Given the description of an element on the screen output the (x, y) to click on. 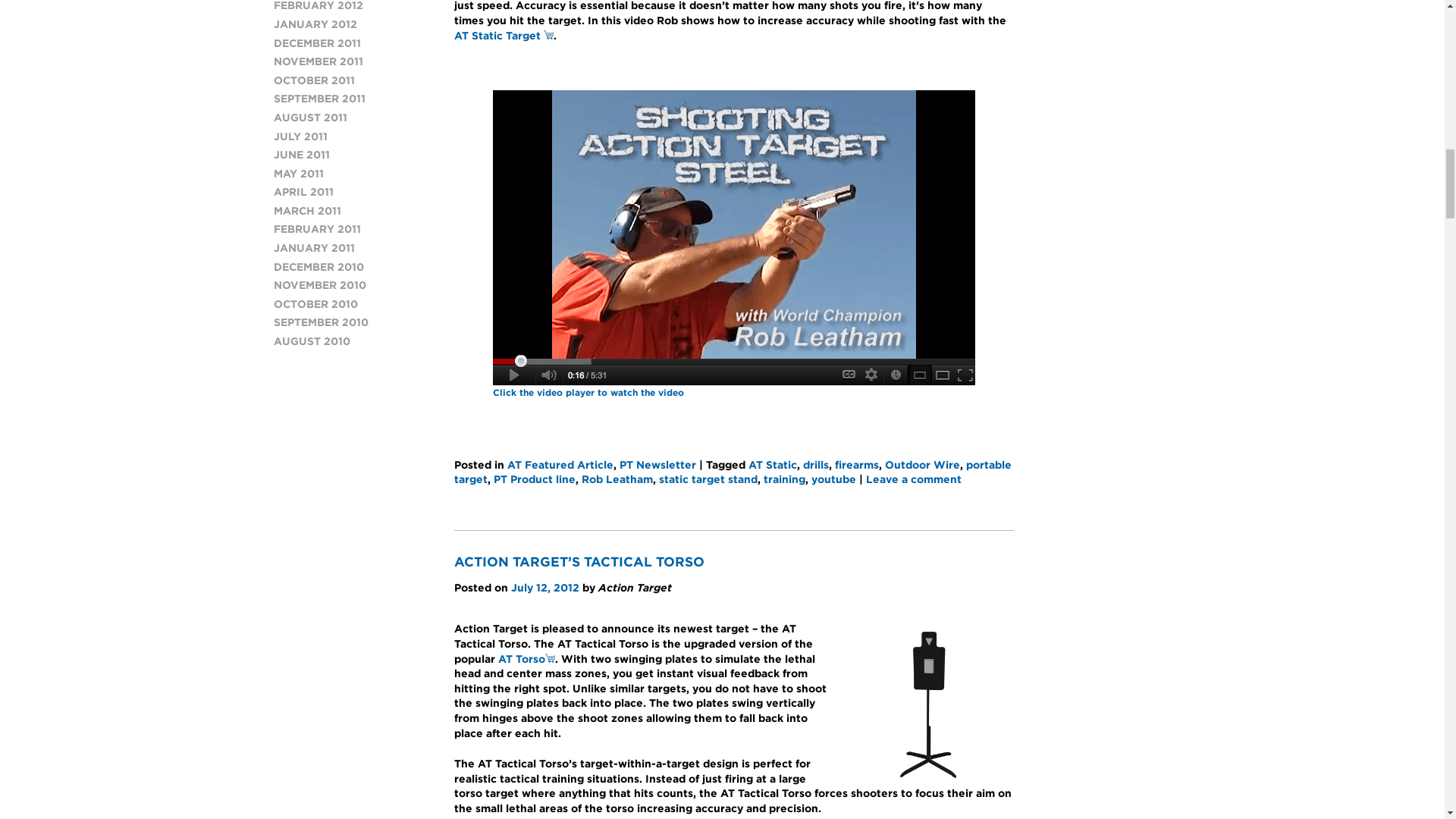
cart Small (549, 657)
cart Small (548, 34)
